Given the description of an element on the screen output the (x, y) to click on. 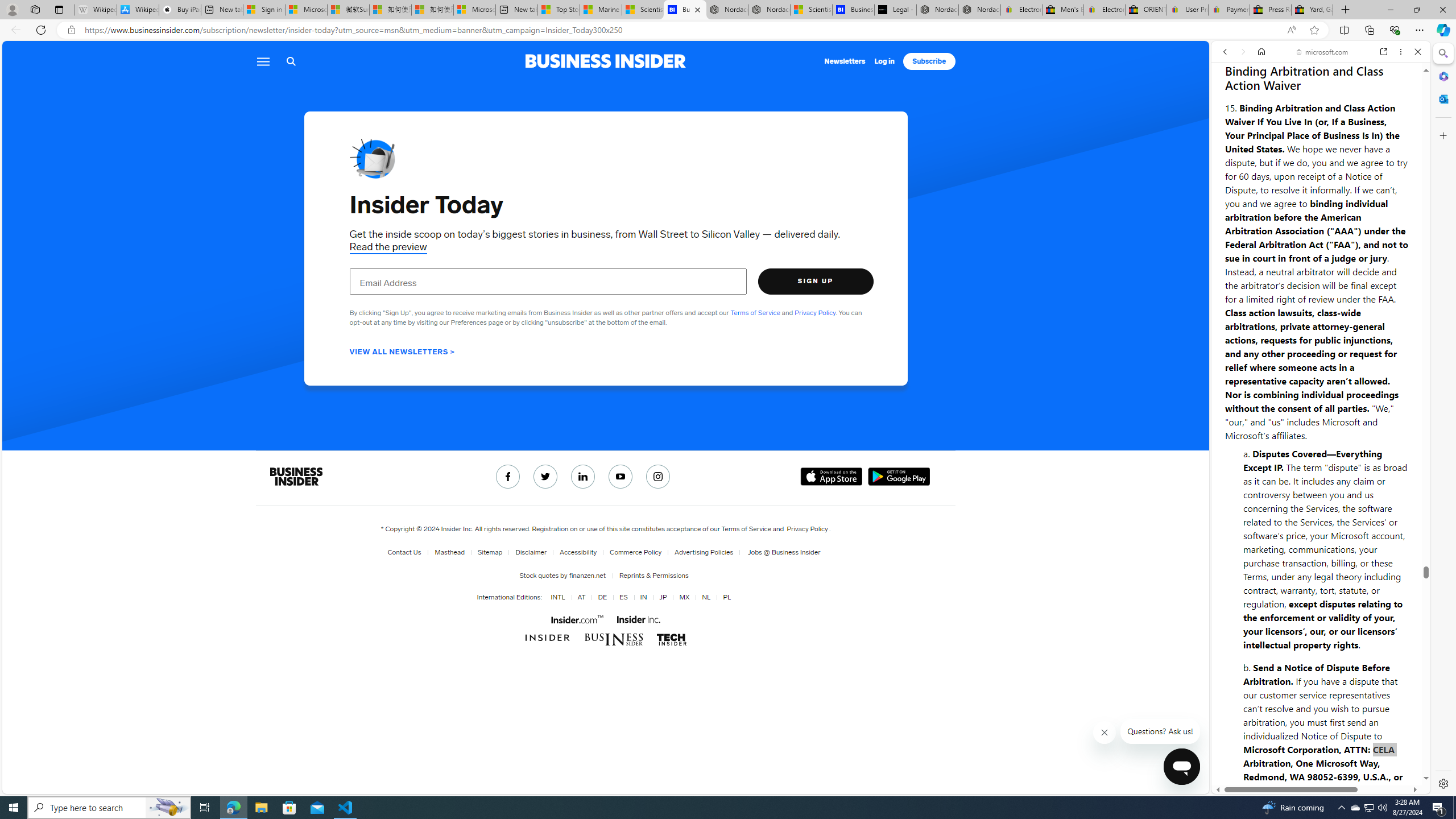
microsoft.com (1323, 51)
Subscribe (928, 61)
Menu icon (263, 61)
Mailbox (371, 158)
Disclaimer (531, 552)
